Given the description of an element on the screen output the (x, y) to click on. 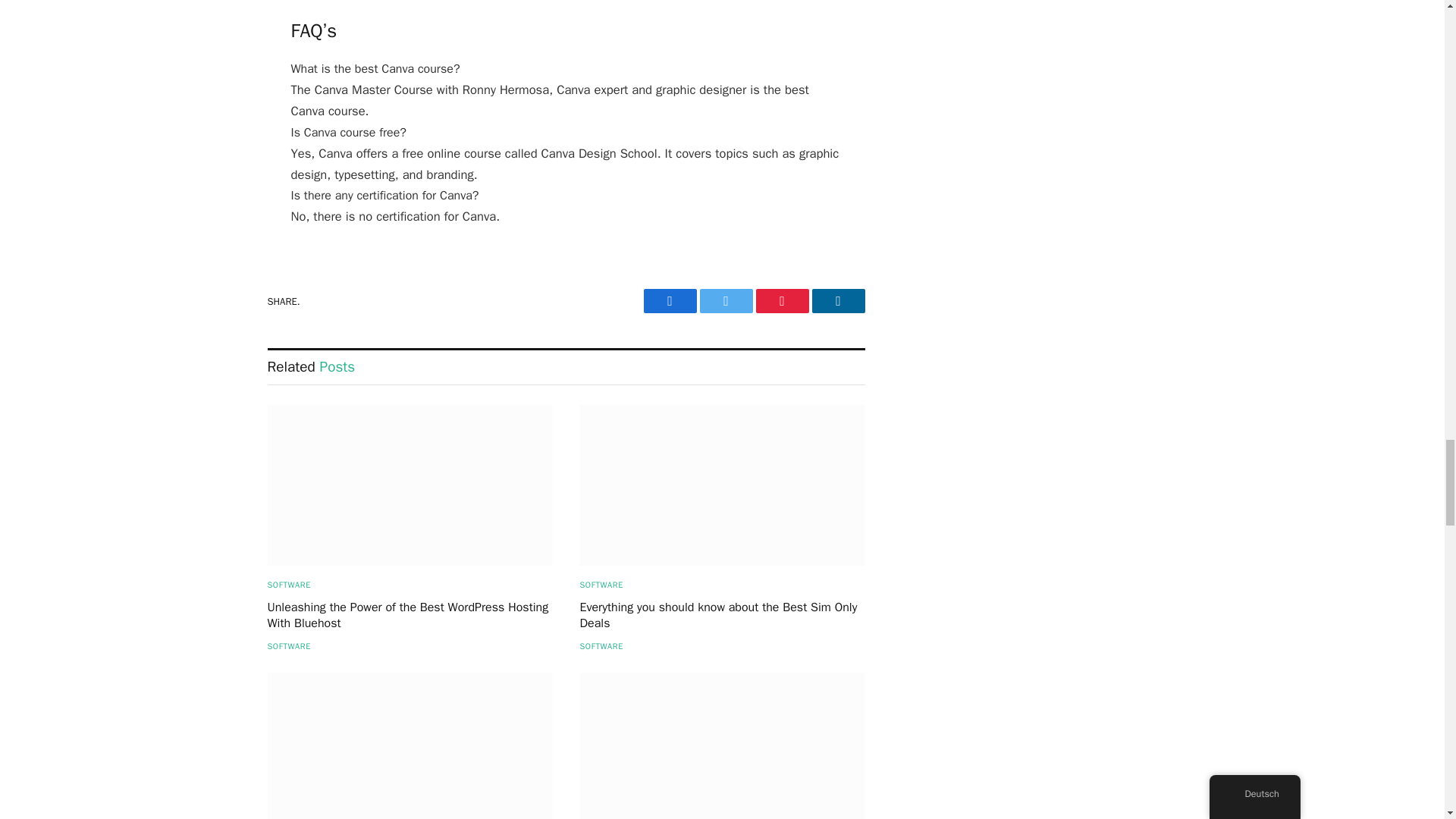
Facebook (669, 300)
Share on Facebook (669, 300)
Twitter (725, 300)
